Given the description of an element on the screen output the (x, y) to click on. 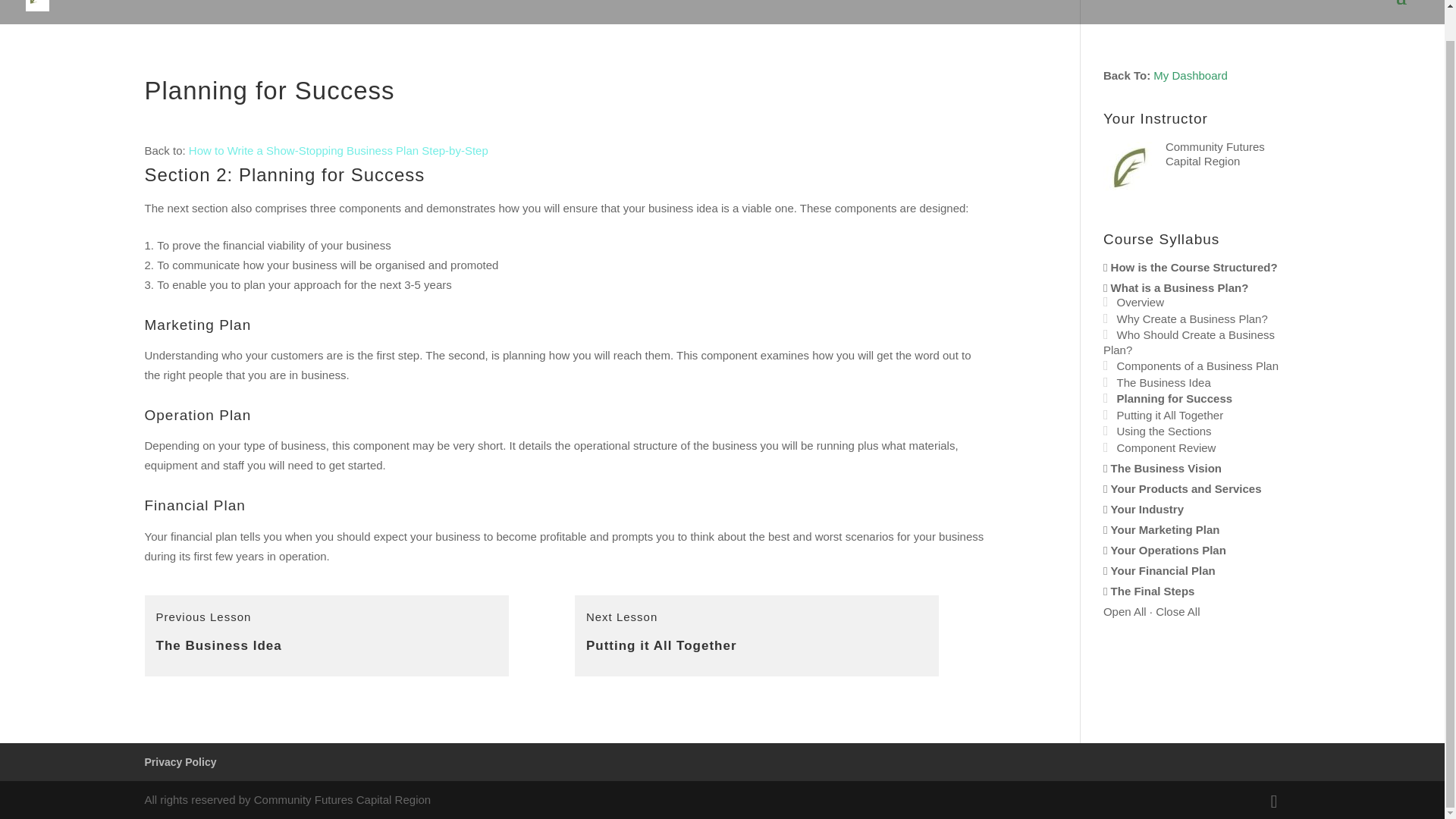
Who Should Create a Business Plan? (1189, 342)
Components of a Business Plan (326, 636)
Why Create a Business Plan? (1197, 365)
My Dashboard (1192, 318)
Putting it All Together (1190, 74)
Overview (1170, 414)
How to Write a Show-Stopping Business Plan Step-by-Step (1140, 301)
Planning for Success (338, 150)
Using the Sections (757, 636)
The Business Idea (1174, 398)
Component Review (1163, 431)
